Given the description of an element on the screen output the (x, y) to click on. 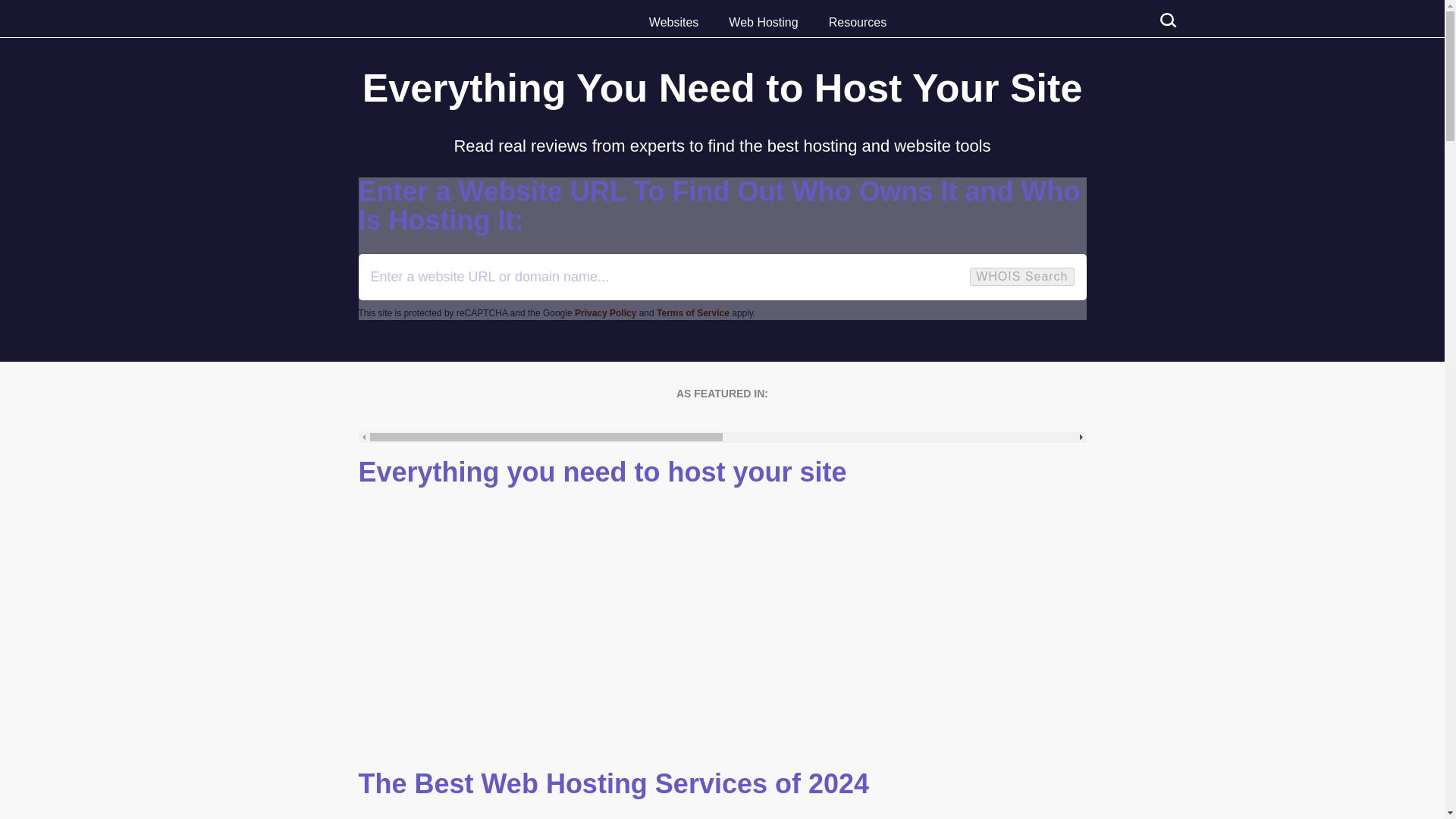
Privacy Policy (605, 312)
Resources (857, 22)
Terms of Service (692, 312)
Web Hosting (762, 22)
The Best Web Hosting Services of 2024 (722, 783)
Search (25, 9)
Websites (673, 22)
WHOIS Search (1021, 276)
